Given the description of an element on the screen output the (x, y) to click on. 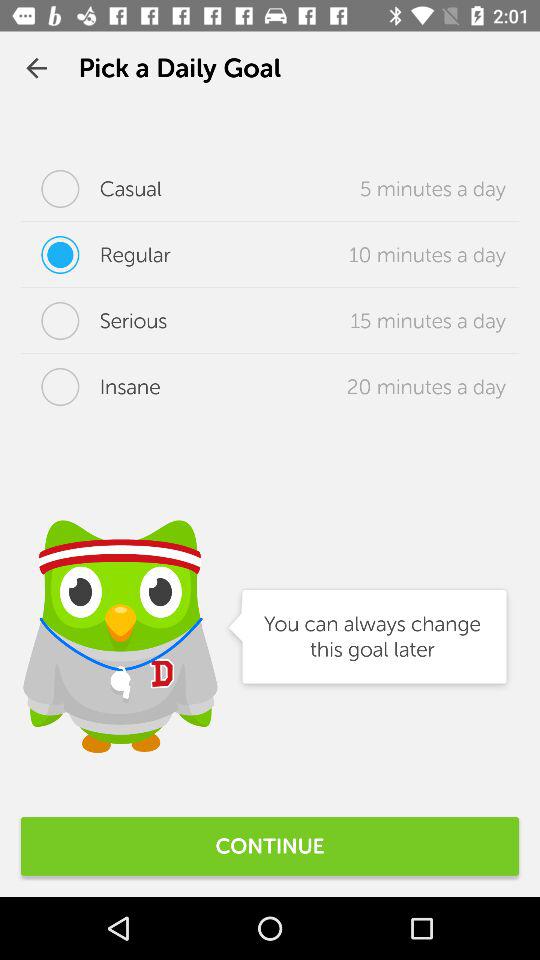
turn off the icon to the left of pick a daily (36, 68)
